Given the description of an element on the screen output the (x, y) to click on. 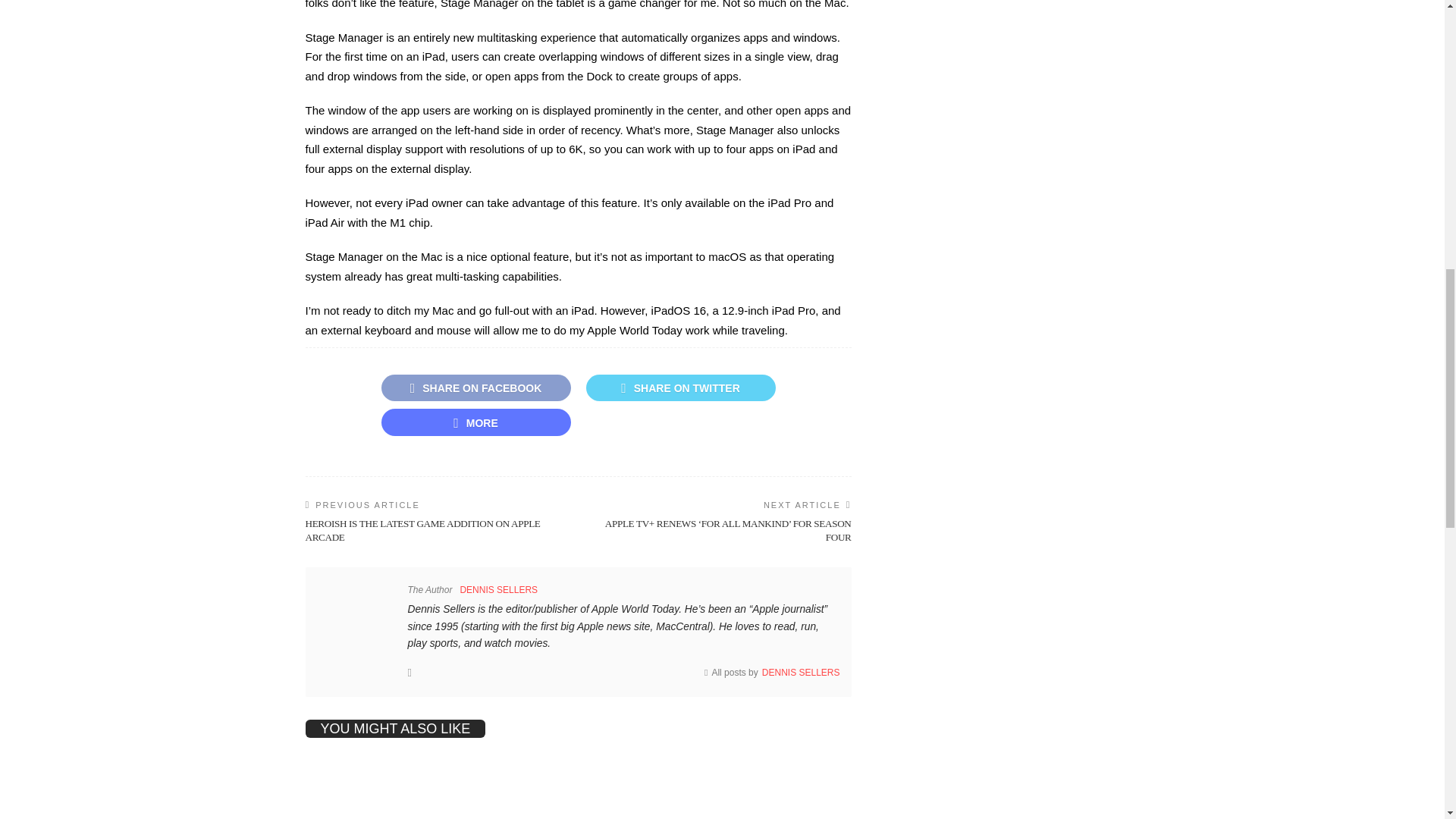
HEROish is the latest game addition on Apple Arcade (422, 529)
